Given the description of an element on the screen output the (x, y) to click on. 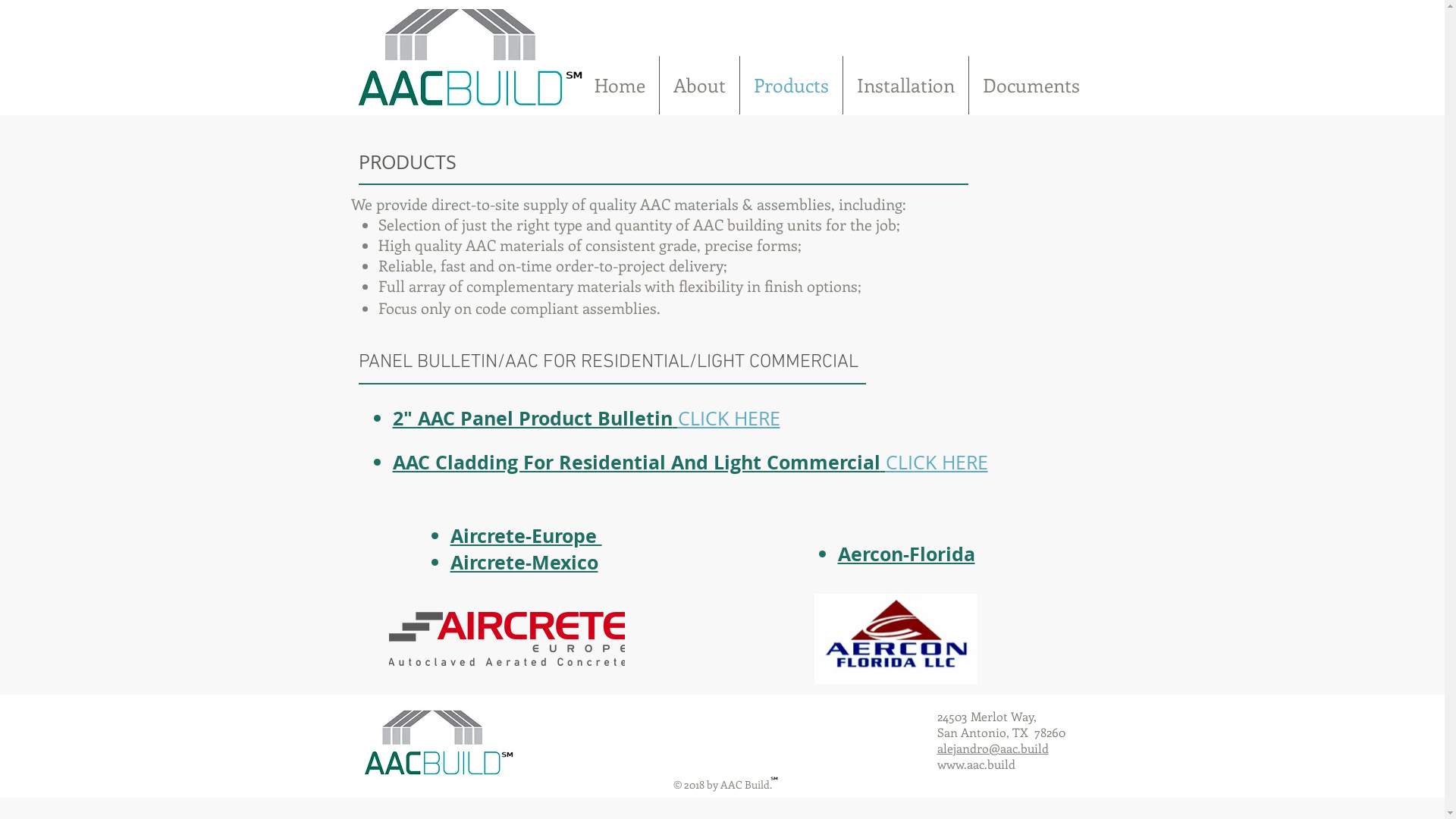
2" AAC Panel Product Bulletin CLICK HERE Element type: text (586, 417)
Aircrete-Mexico Element type: text (524, 561)
Installation Element type: text (905, 85)
Home Element type: text (619, 85)
Products Element type: text (791, 85)
alejandro@aac.build Element type: text (992, 748)
Documents Element type: text (1031, 85)
AAC Cladding For Residential And Light Commercial CLICK HERE Element type: text (690, 461)
www.aac.build Element type: text (976, 763)
Aercon-Florida Element type: text (905, 553)
About Element type: text (699, 85)
Aircrete-Europe  Element type: text (526, 535)
